Given the description of an element on the screen output the (x, y) to click on. 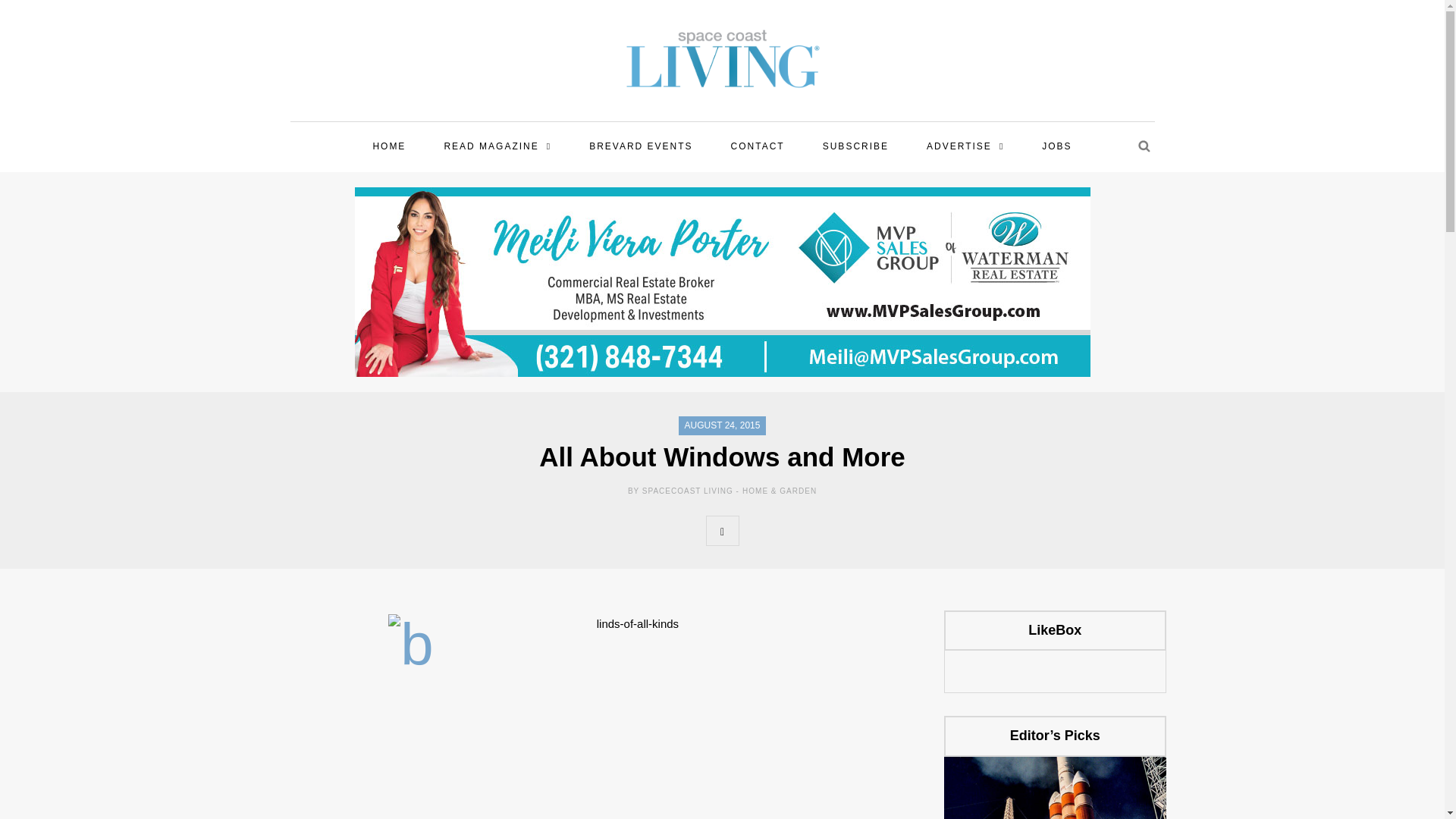
SUBSCRIBE (855, 146)
HOME (388, 146)
ADVERTISE (965, 146)
CONTACT (757, 146)
JOBS (1056, 146)
READ MAGAZINE (496, 146)
header (611, 708)
BREVARD EVENTS (640, 146)
